Given the description of an element on the screen output the (x, y) to click on. 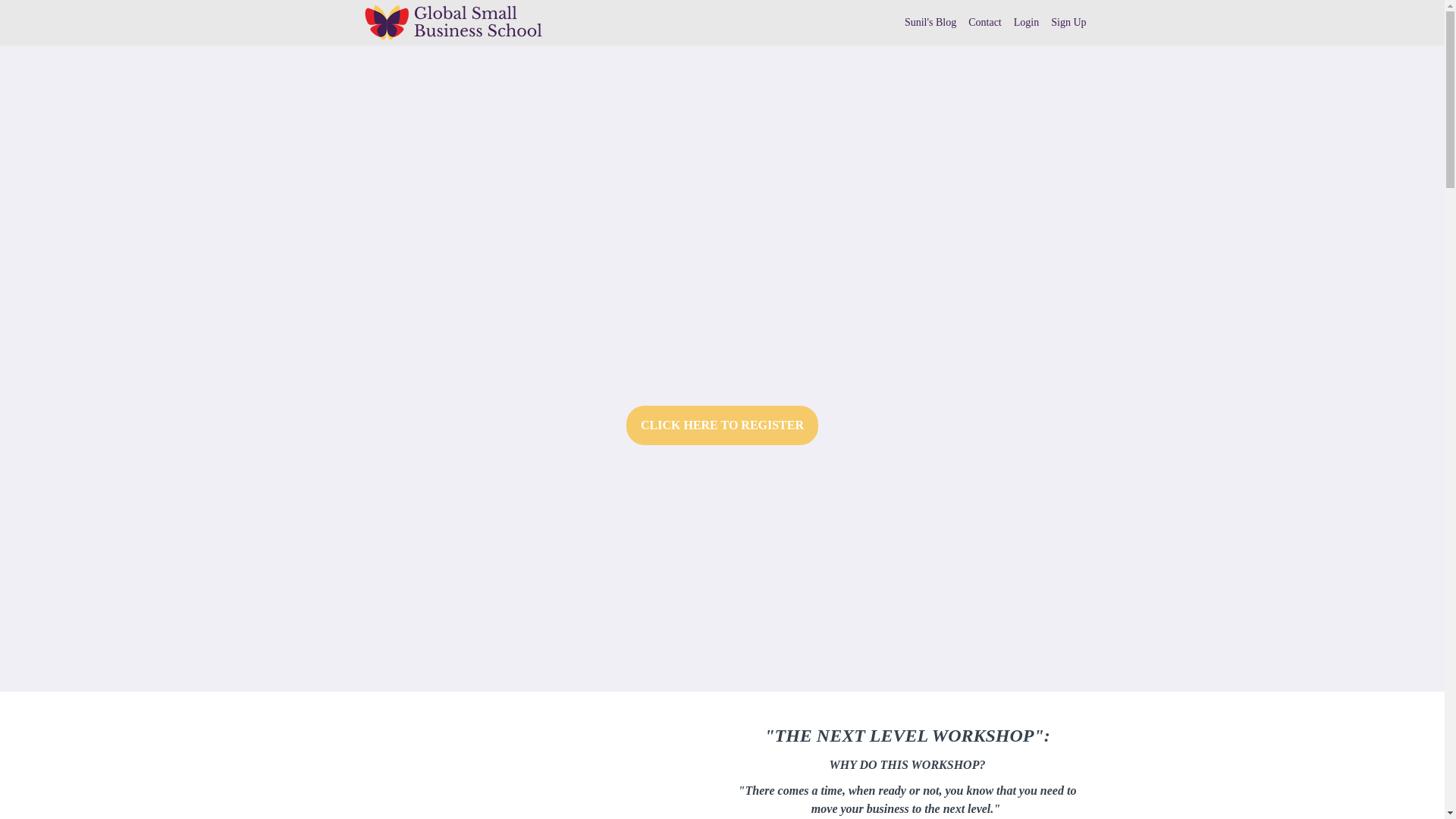
Contact (984, 22)
CLICK HERE TO REGISTER (722, 426)
Sign Up (1068, 22)
Login (1026, 22)
CLICK HERE TO REGISTER (722, 425)
Sunil's Blog (930, 22)
